Given the description of an element on the screen output the (x, y) to click on. 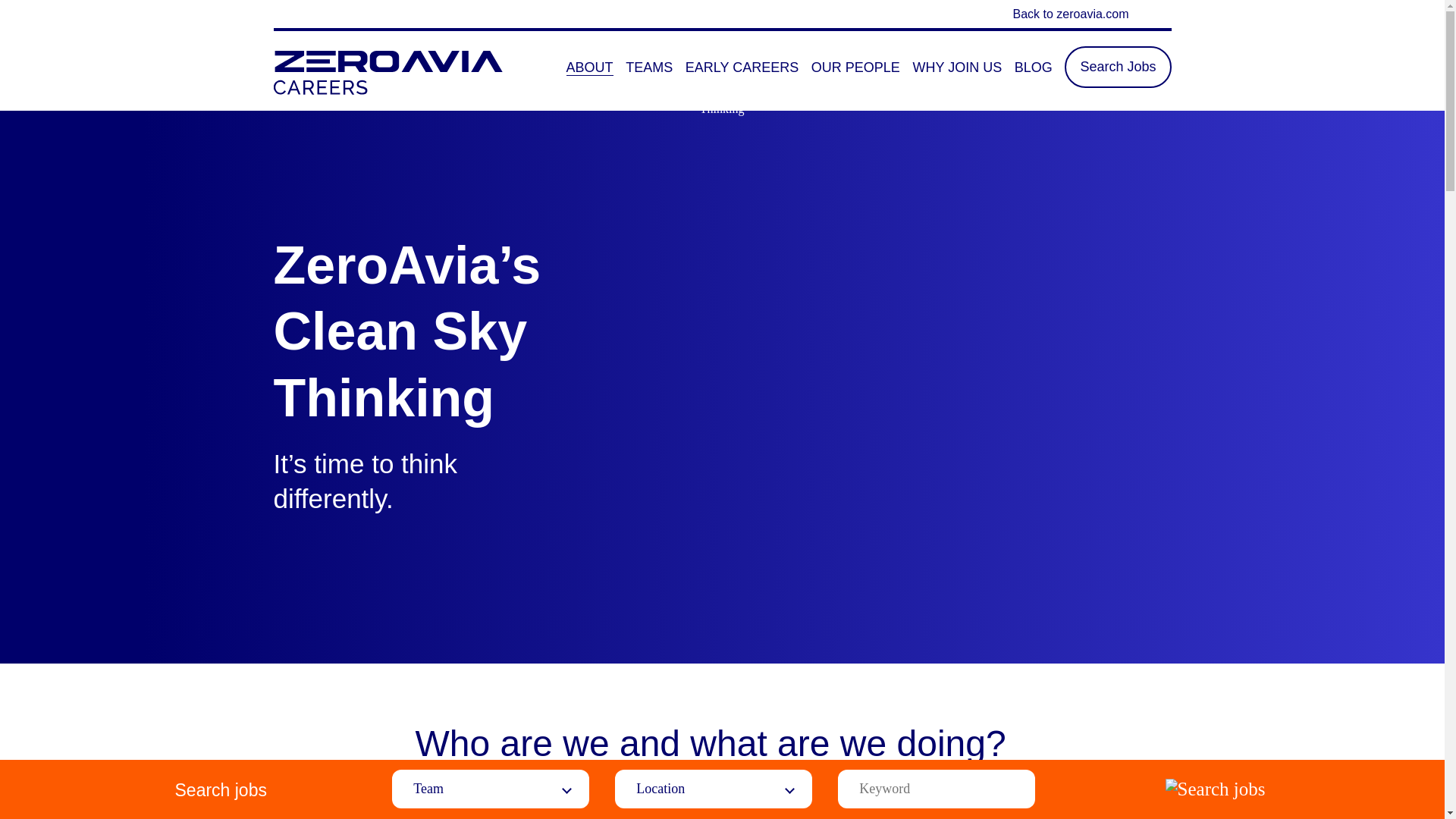
Back to zeroavia.com (721, 13)
Search Jobs (1117, 65)
OUR PEOPLE (854, 67)
WHY JOIN US (956, 67)
ABOUT (589, 67)
EARLY CAREERS (741, 67)
BLOG (1033, 67)
TEAMS (649, 67)
